Given the description of an element on the screen output the (x, y) to click on. 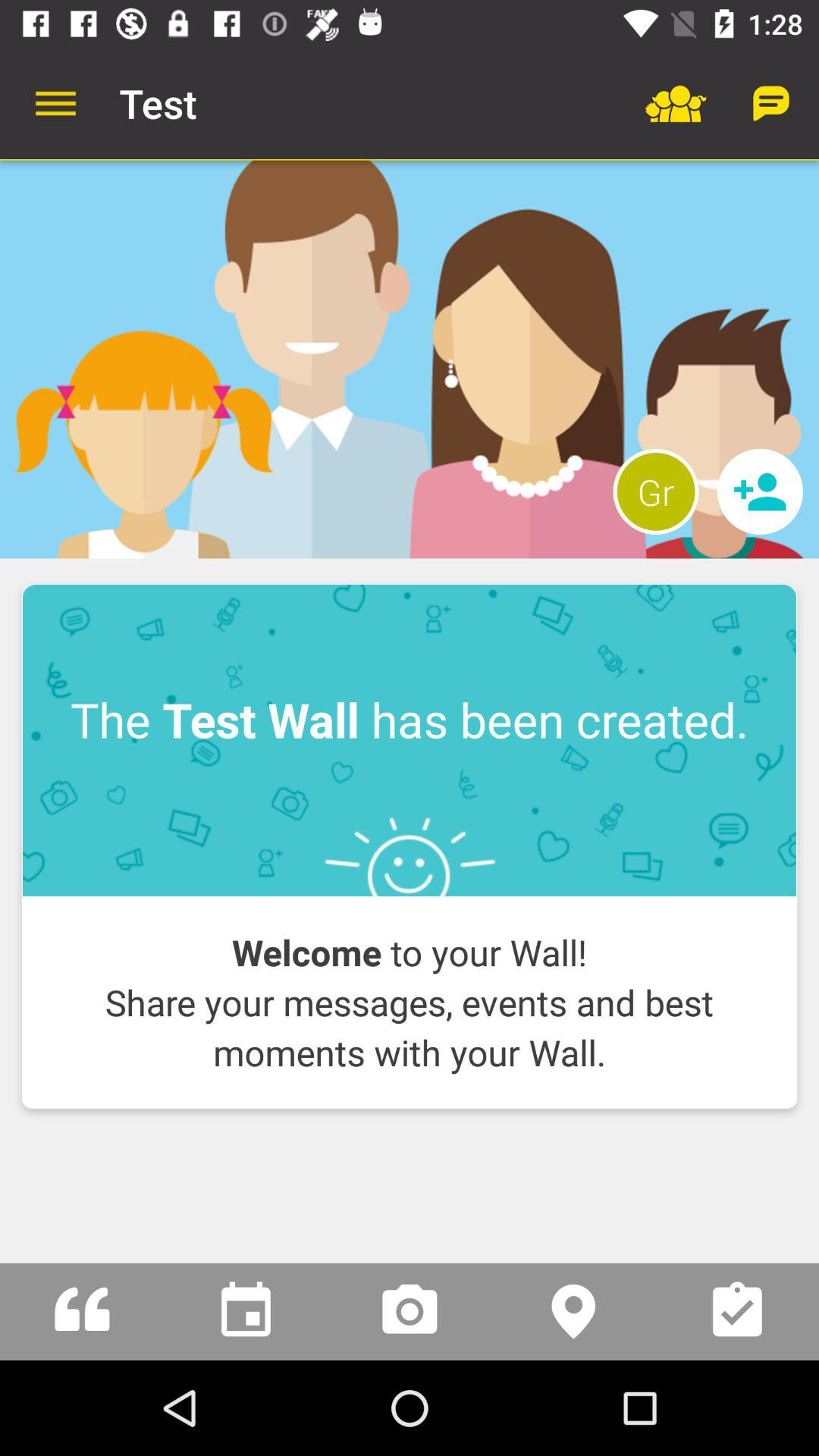
camera (409, 1311)
